Given the description of an element on the screen output the (x, y) to click on. 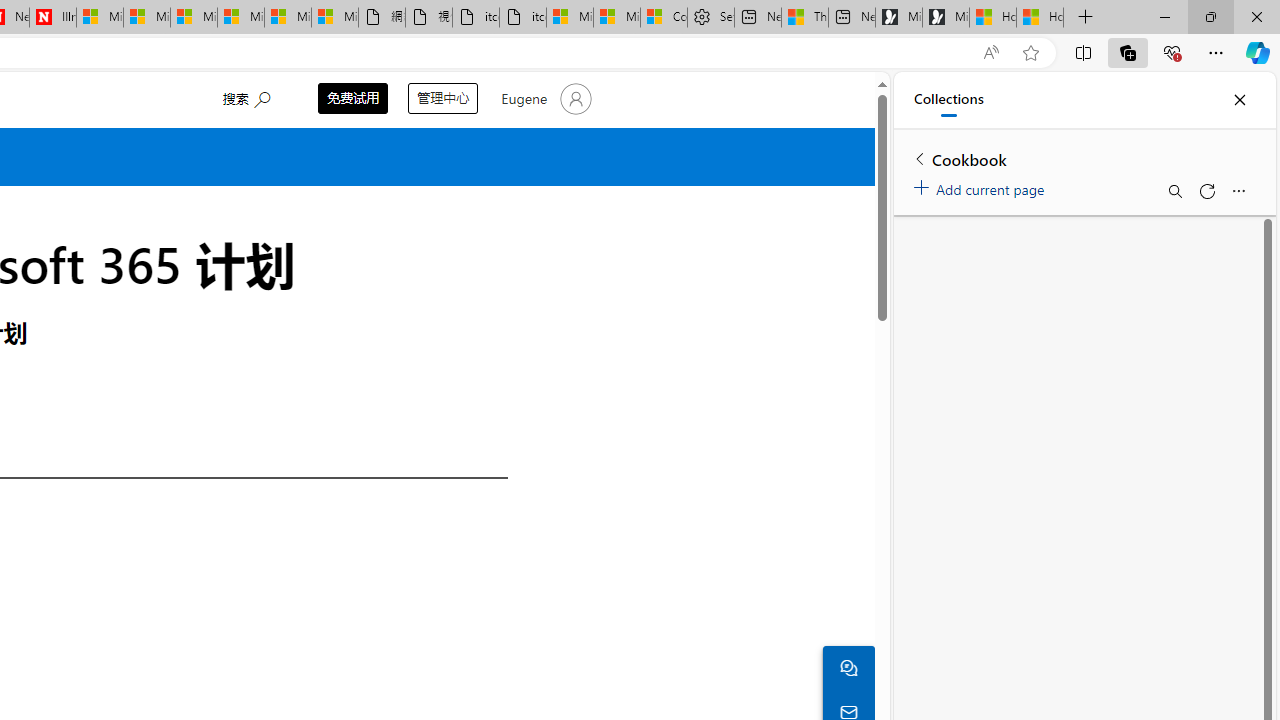
itconcepthk.com/projector_solutions.mp4 (523, 17)
